Given the description of an element on the screen output the (x, y) to click on. 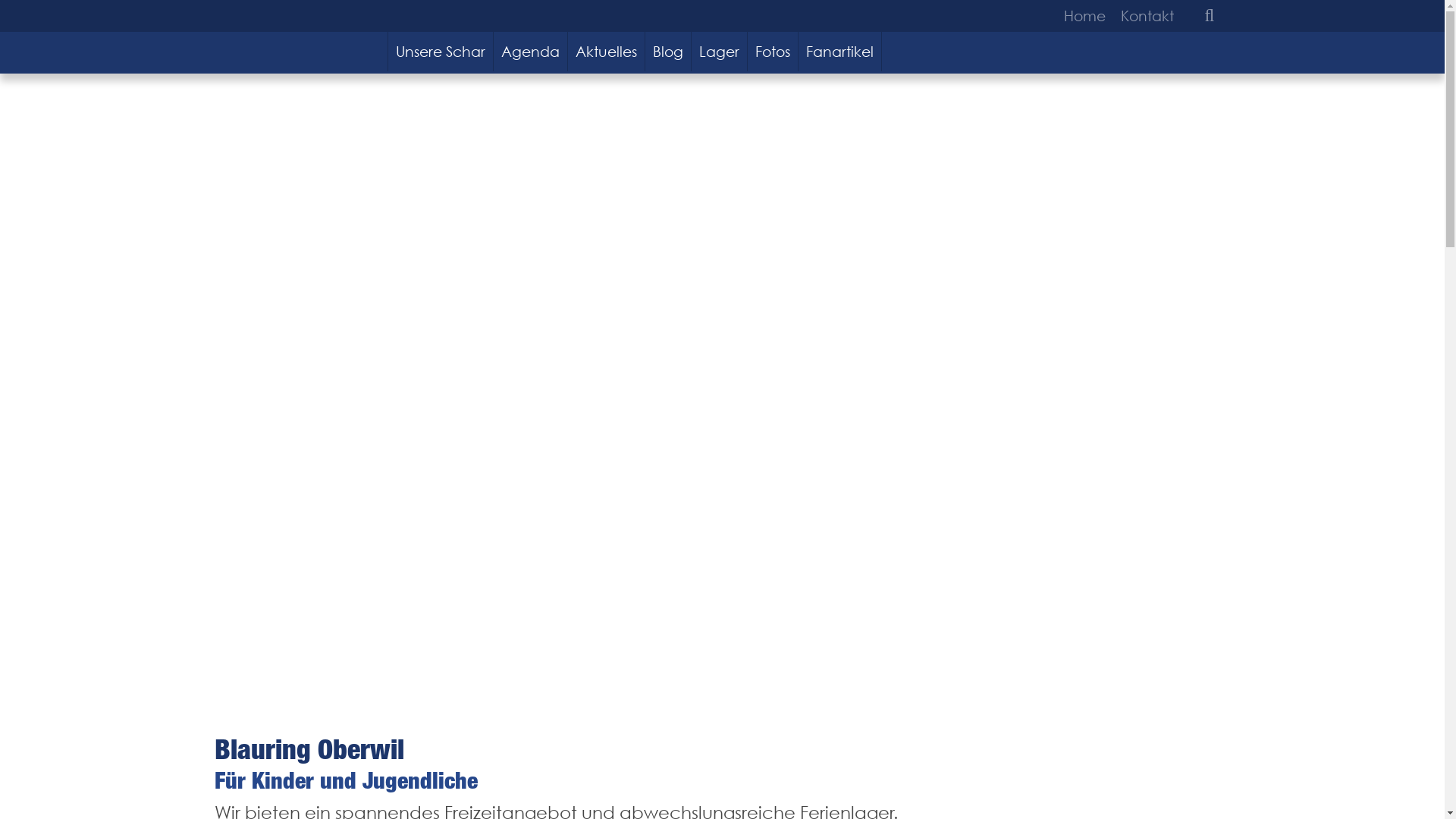
Kontakt Element type: text (1143, 15)
Home Element type: text (1087, 15)
Fanartikel Element type: text (839, 51)
Lager Element type: text (719, 51)
Unsere Schar Element type: text (440, 51)
Fotos Element type: text (772, 51)
Blog Element type: text (668, 51)
Aktuelles Element type: text (606, 51)
Agenda Element type: text (530, 51)
